Given the description of an element on the screen output the (x, y) to click on. 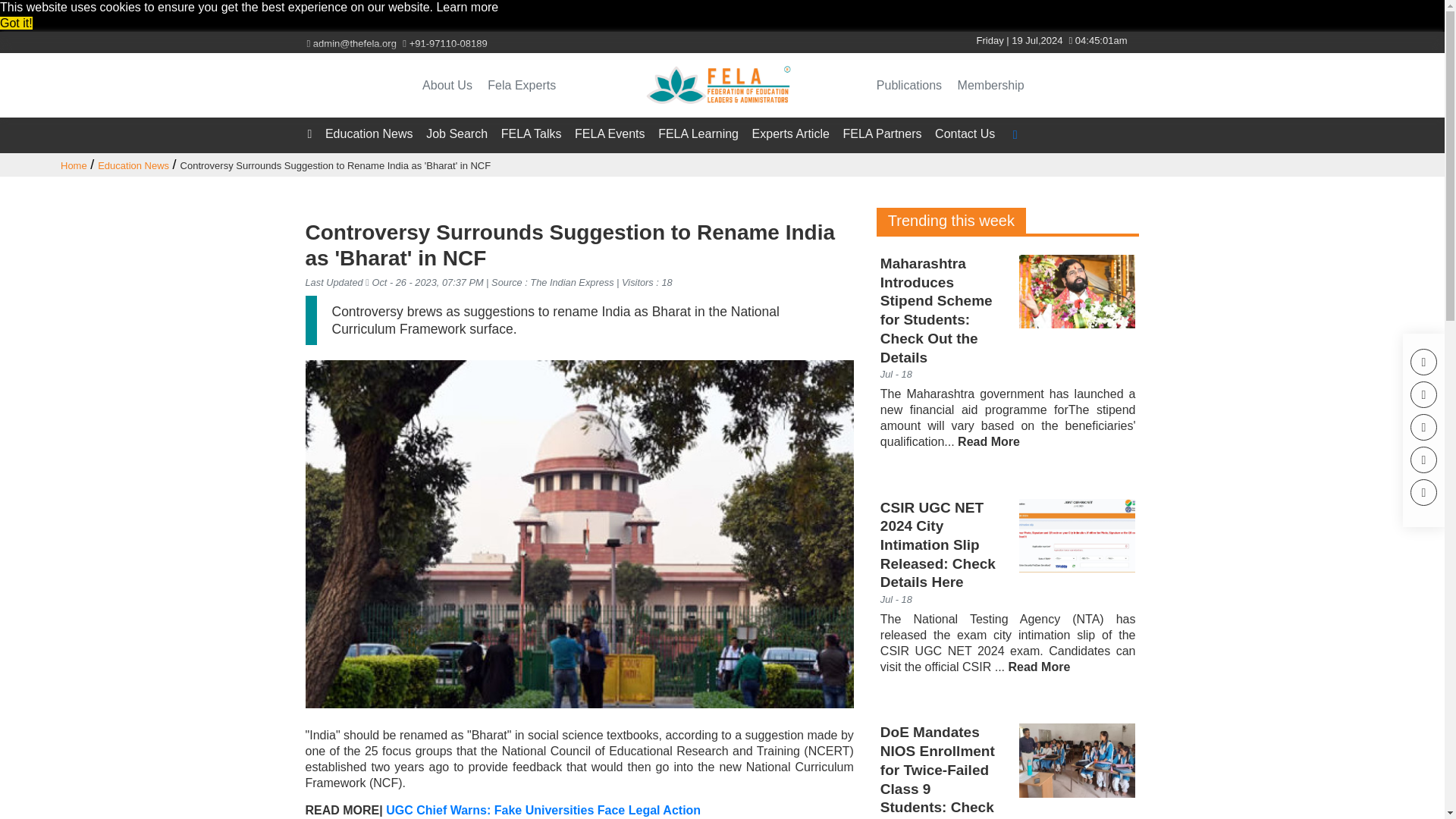
Education News (132, 165)
Publications (914, 84)
UGC Chief Warns: Fake Universities Face Legal Action (542, 809)
Education News (369, 134)
Learn more (466, 6)
Fela Experts (527, 84)
Fela Foundation (721, 85)
FELA Partners (881, 134)
Job Search (457, 134)
Got it! (16, 22)
Home (74, 165)
